Given the description of an element on the screen output the (x, y) to click on. 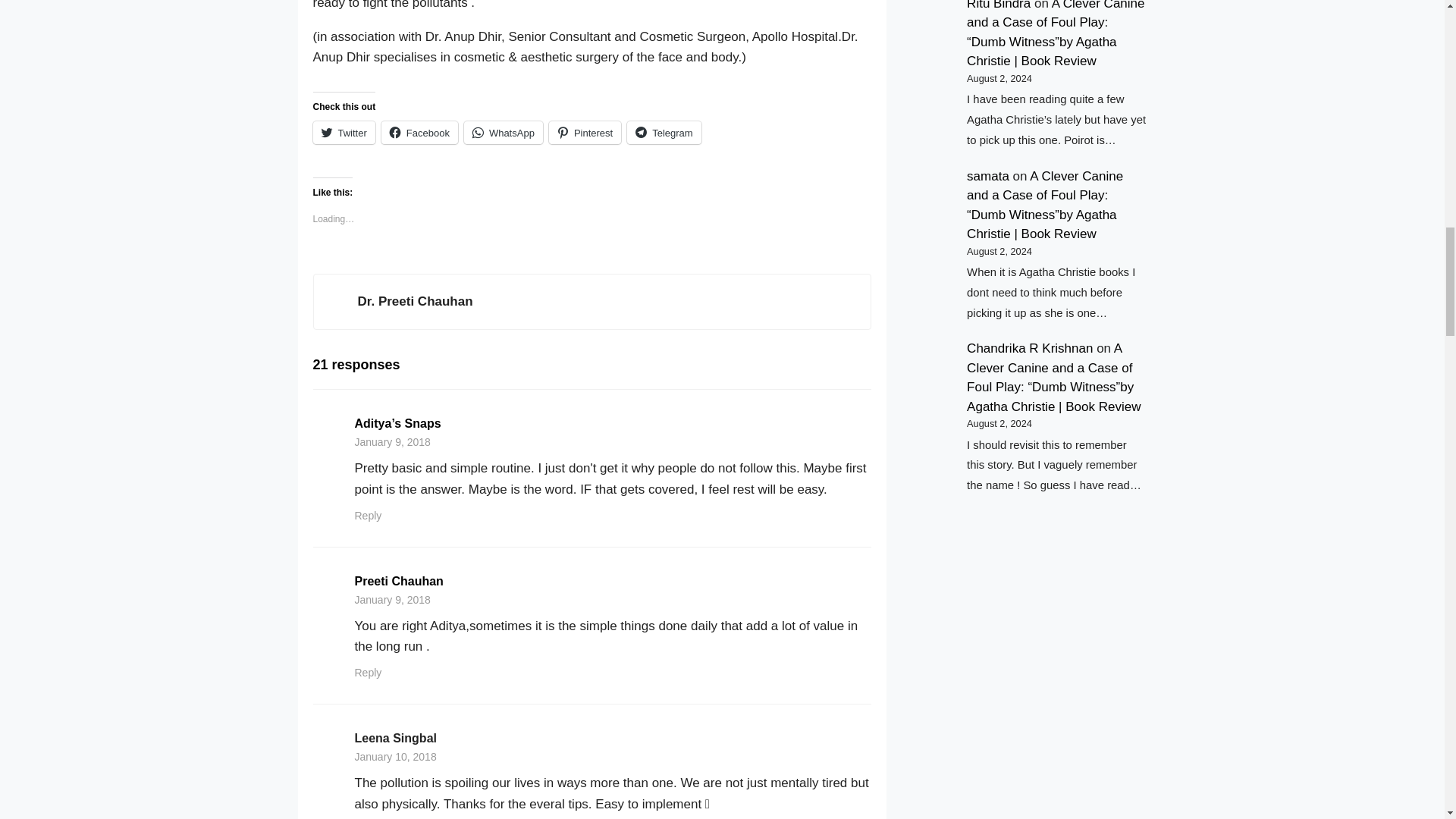
Facebook (419, 132)
Pinterest (584, 132)
Click to share on Pinterest (584, 132)
Reply (368, 515)
Preeti Chauhan (399, 581)
Click to share on Telegram (663, 132)
Click to share on Facebook (419, 132)
Click to share on Twitter (343, 132)
January 10, 2018 (395, 756)
January 9, 2018 (392, 599)
WhatsApp (503, 132)
January 9, 2018 (392, 441)
Reply (368, 672)
Twitter (343, 132)
Click to share on WhatsApp (503, 132)
